Given the description of an element on the screen output the (x, y) to click on. 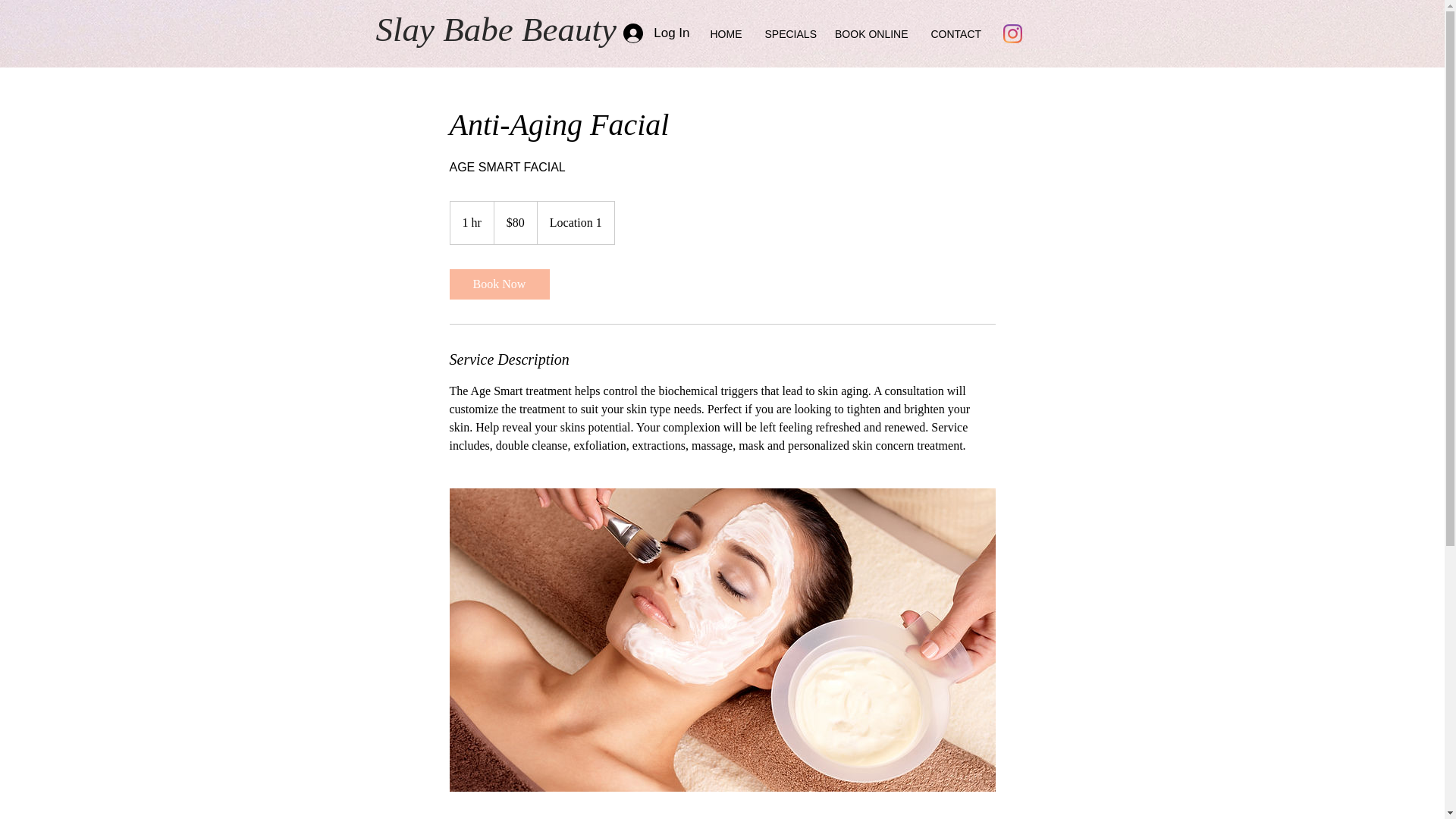
BOOK ONLINE (872, 34)
Book Now (498, 284)
Log In (656, 32)
HOME (724, 34)
SPECIALS (789, 34)
CONTACT (954, 34)
